Given the description of an element on the screen output the (x, y) to click on. 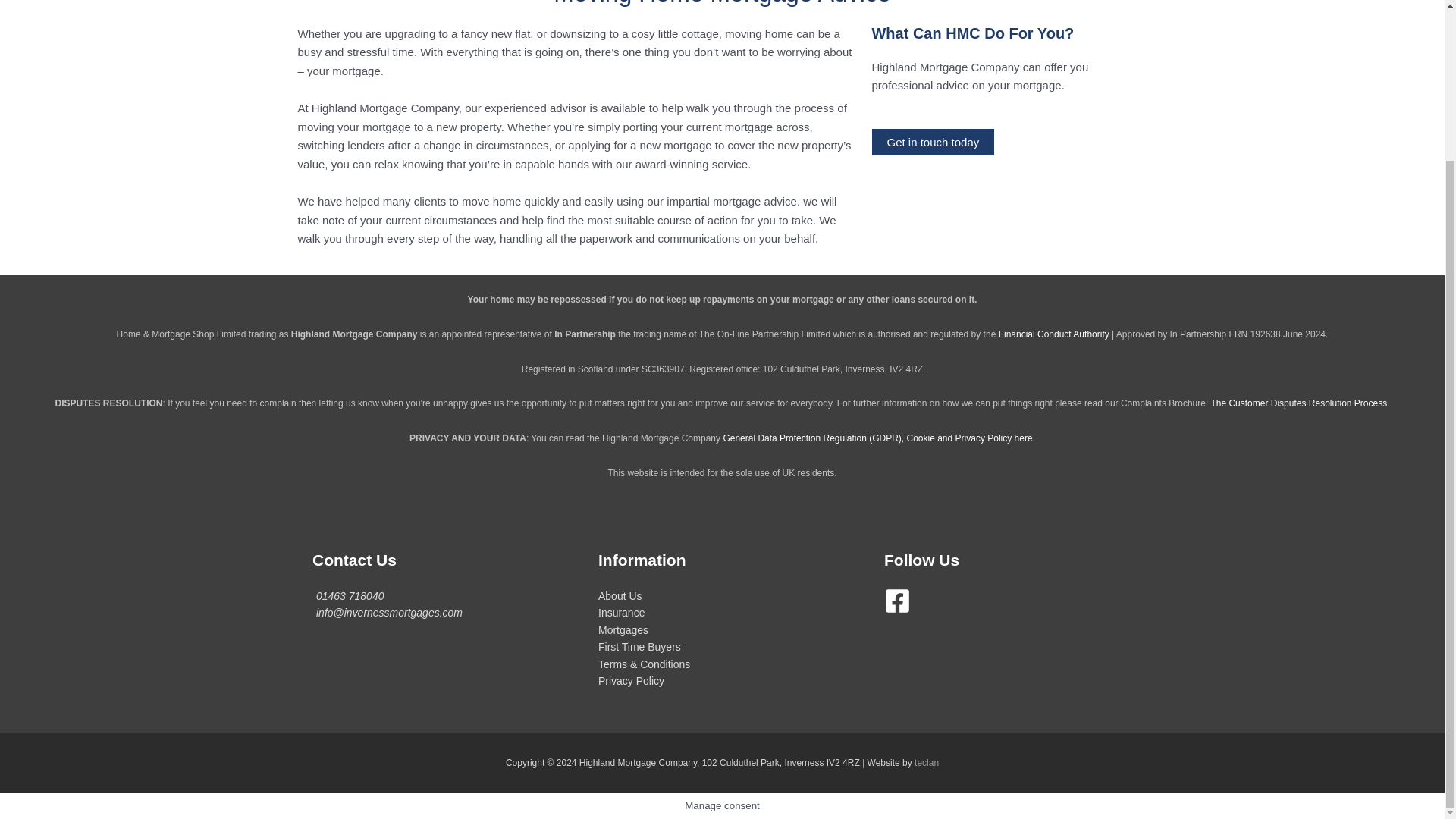
About Us (620, 595)
01463 718040 (349, 595)
The Customer Disputes Resolution Process (1298, 403)
The Customer Disputes Resolution Process  (1298, 403)
Get in touch today (933, 141)
Financial Conduct Authority (1053, 334)
